Given the description of an element on the screen output the (x, y) to click on. 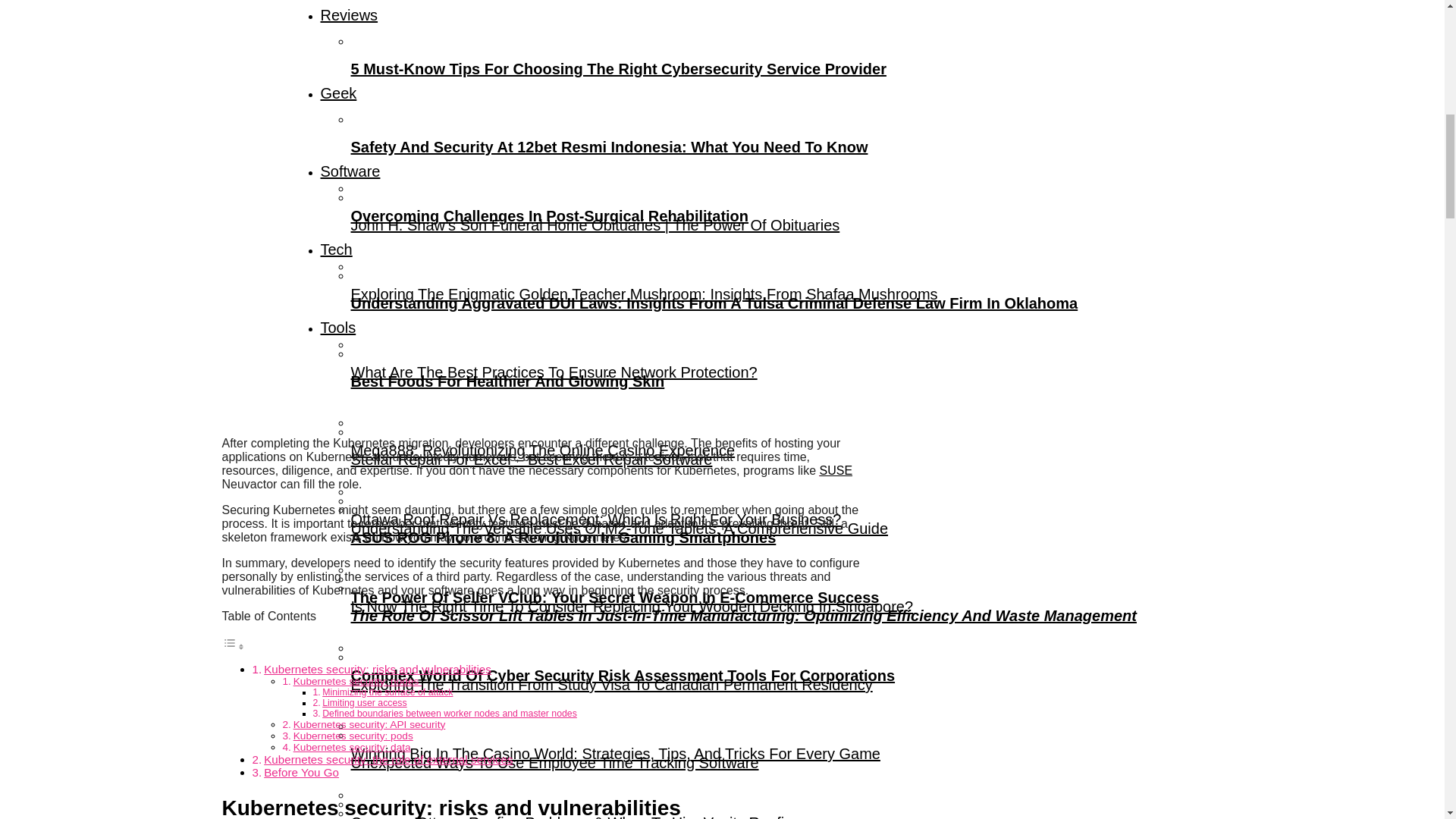
Kubernetes security: data  (352, 747)
Kubernetes security: API security  (369, 724)
Minimizing the surface of attack  (386, 692)
Understanding Slot Volatility: How It Affects Your Wins (786, 798)
Kubernetes security: the role of external services (387, 758)
Before You Go (301, 771)
Limiting user access  (363, 702)
Defined boundaries between worker nodes and master nodes  (448, 713)
